Given the description of an element on the screen output the (x, y) to click on. 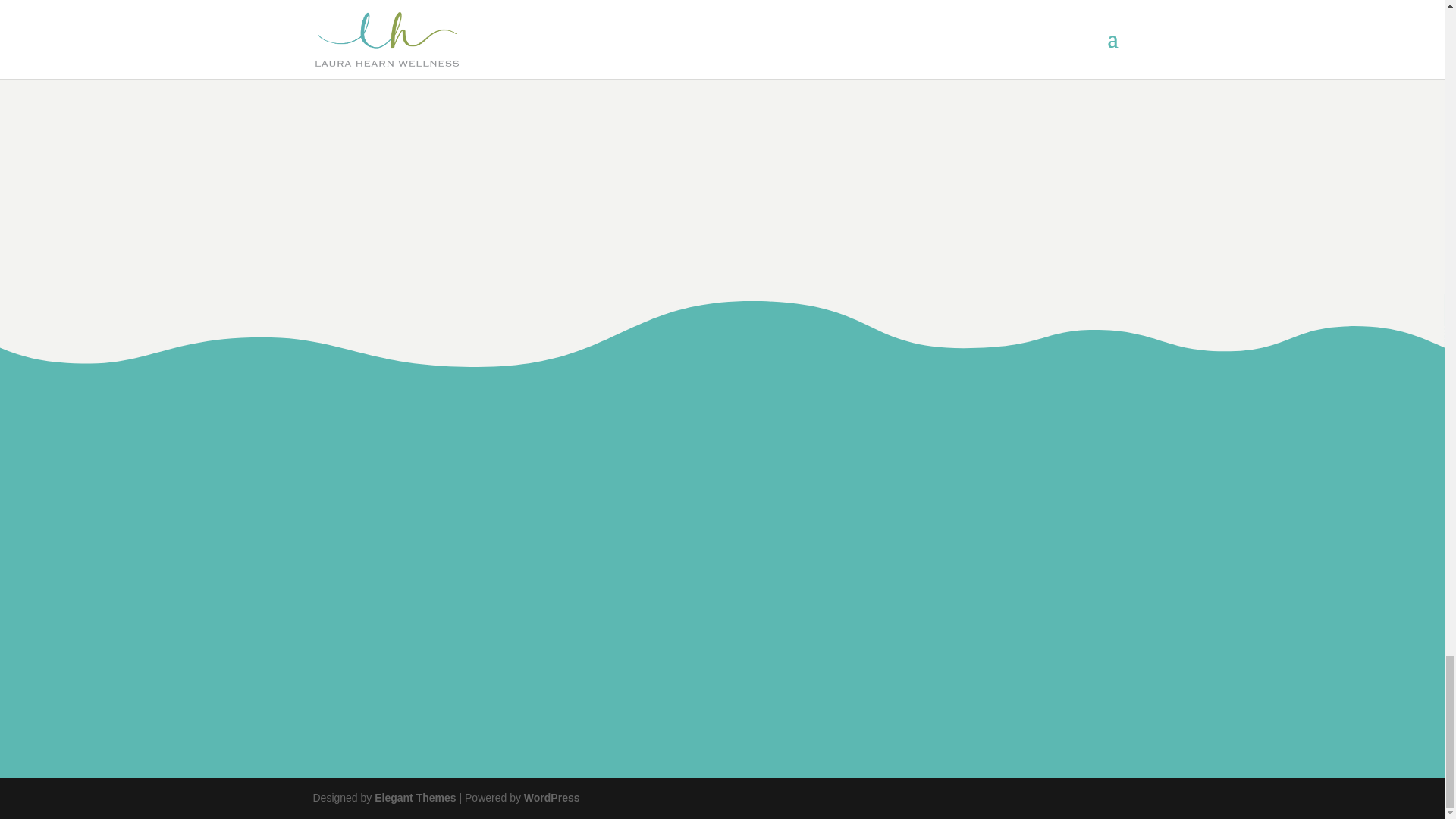
WordPress (551, 797)
Premium WordPress Themes (414, 797)
Elegant Themes (414, 797)
